Given the description of an element on the screen output the (x, y) to click on. 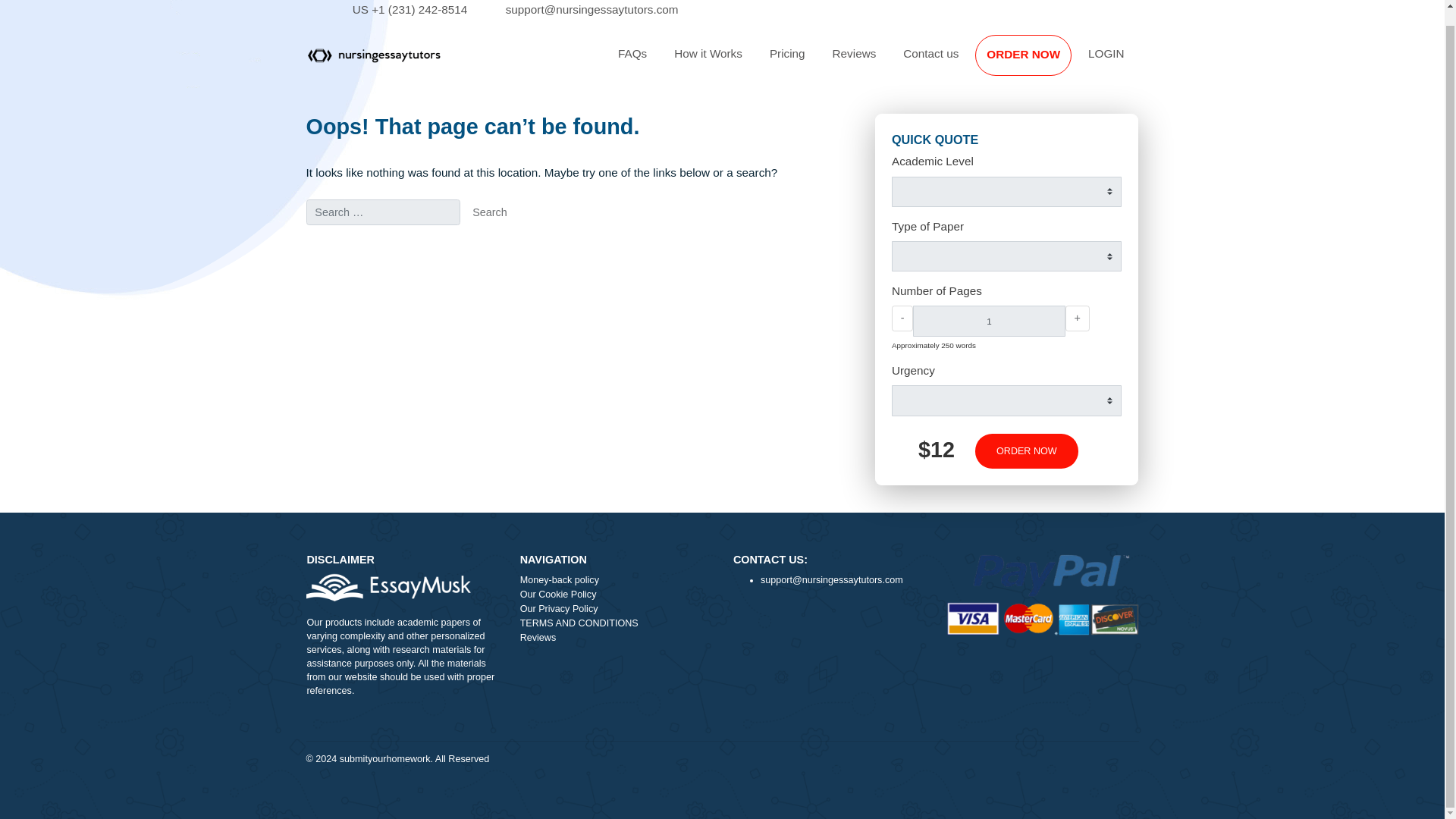
Reviews (948, 61)
ORDER NOW (1140, 502)
Our Cookie Policy (685, 662)
FAQs (702, 61)
TERMS AND CONDITIONS (685, 694)
FAQs (702, 61)
ORDER NOW (1137, 62)
Pricing (875, 61)
How it Works (786, 61)
Reviews (948, 61)
